Given the description of an element on the screen output the (x, y) to click on. 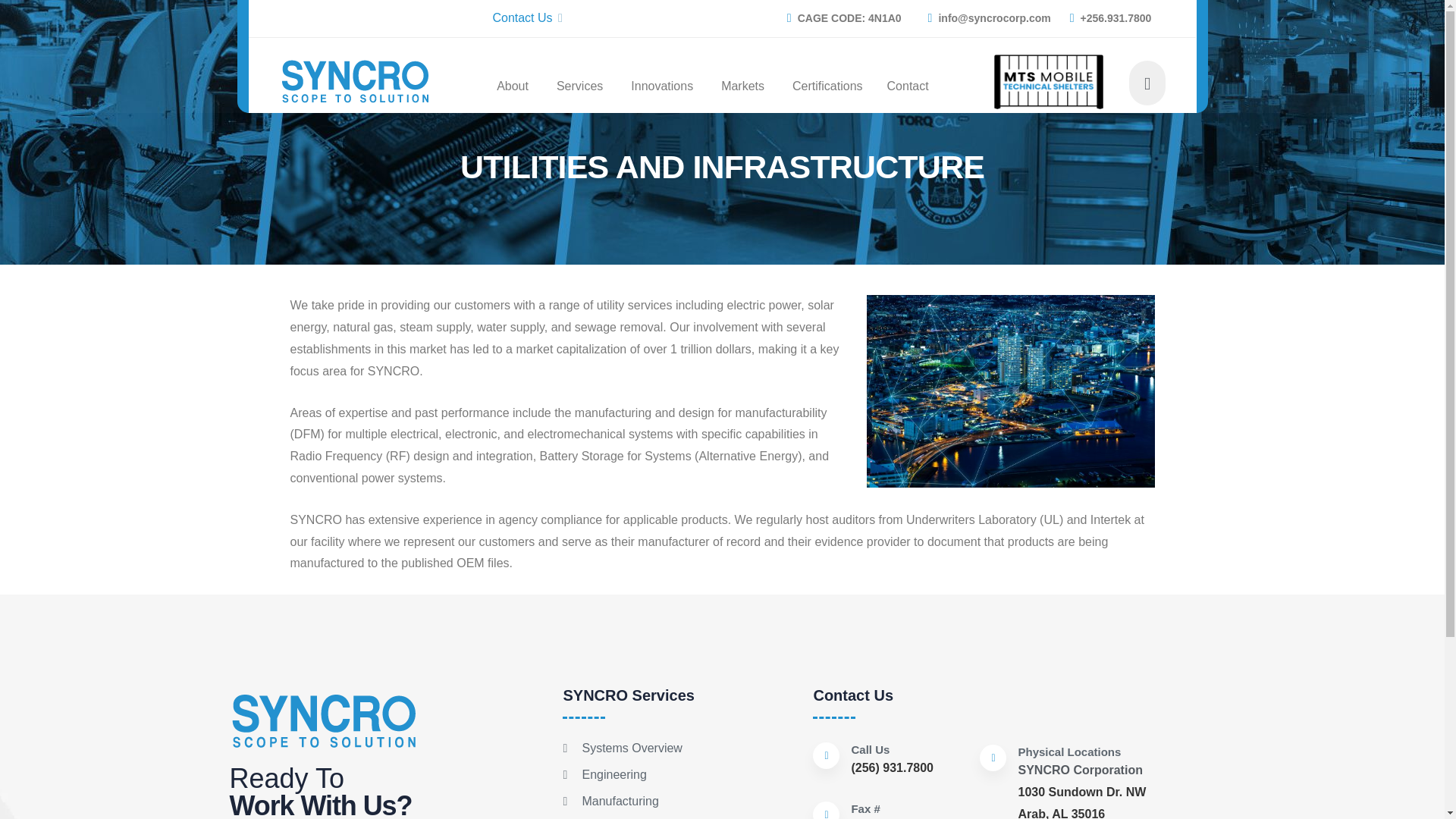
Contact (907, 85)
Services (579, 85)
Innovations (661, 85)
Markets (742, 85)
MTS Logo header BUTTON transparent bg 150x75 - SYNCRO Corp (1048, 81)
 - SYNCRO Corp (1010, 390)
Syncro Logo Blue 250px - SYNCRO Corp (323, 721)
Certifications (826, 85)
Contact Us (525, 17)
About (512, 85)
